Given the description of an element on the screen output the (x, y) to click on. 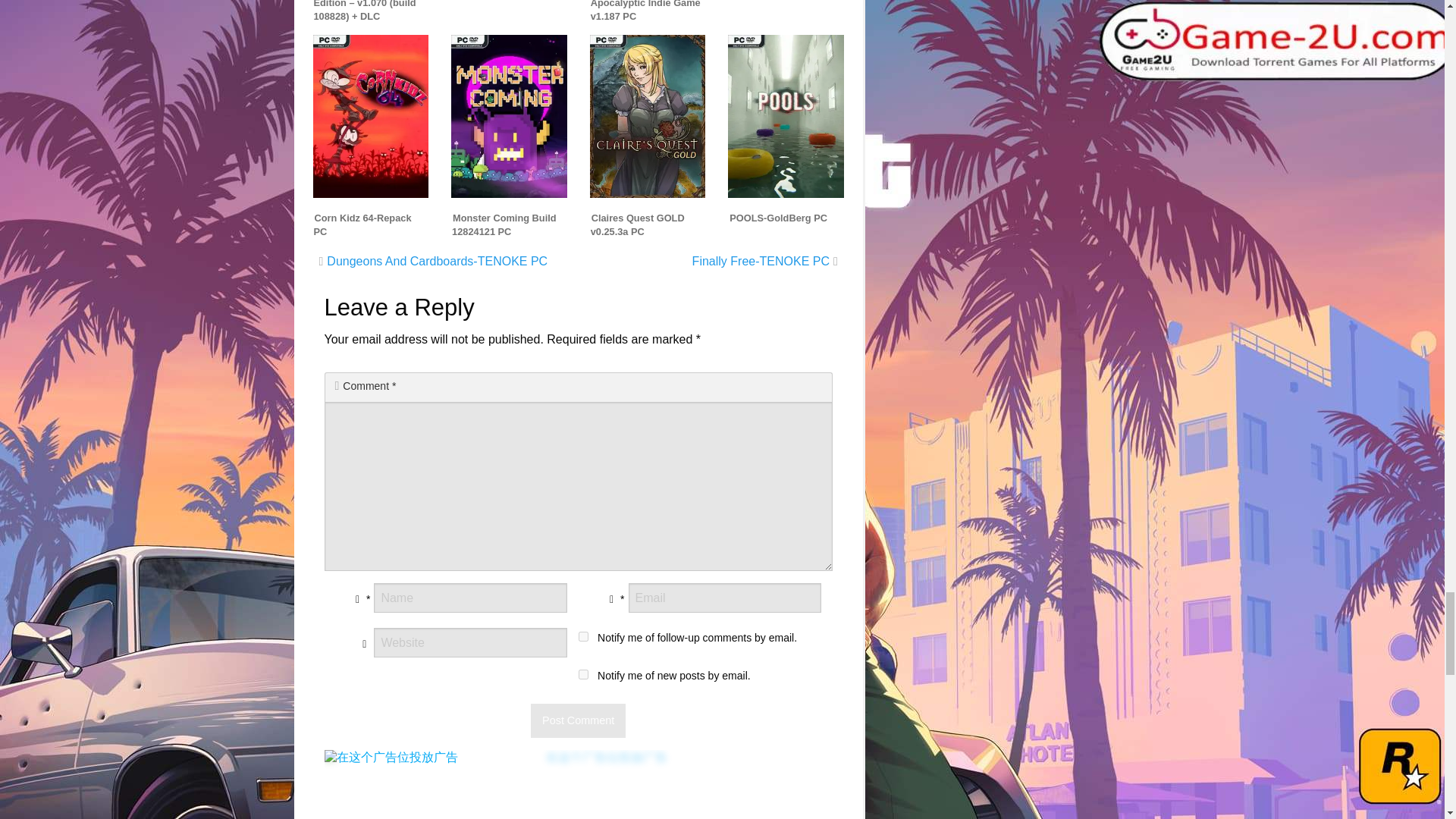
subscribe (583, 674)
subscribe (583, 636)
ATOM RPG Post Apocalyptic Indie Game v1.187 PC (645, 13)
Corn Kidz 64-Repack PC (363, 224)
Post Comment (578, 720)
